Given the description of an element on the screen output the (x, y) to click on. 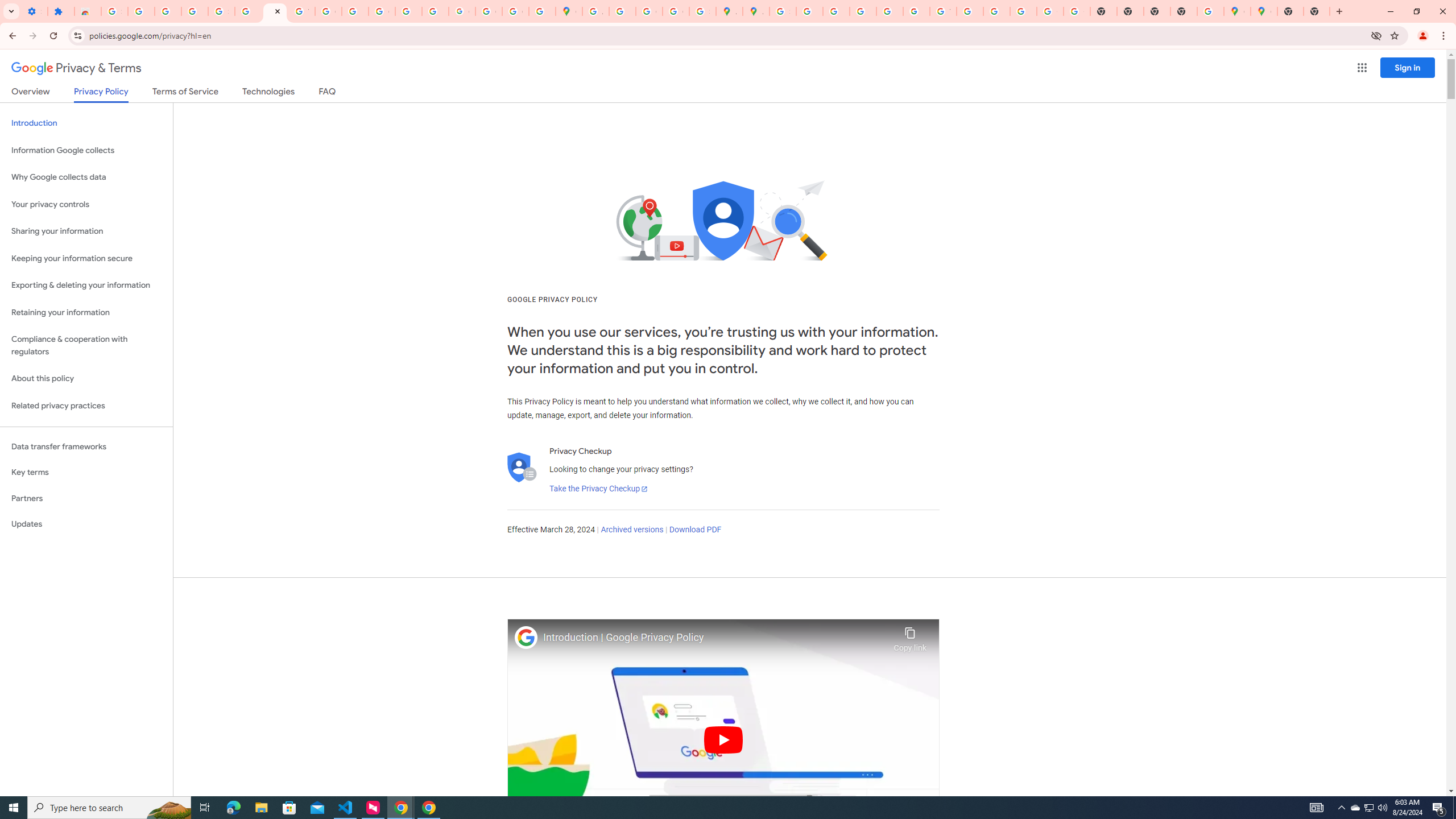
Create your Google Account (649, 11)
